Given the description of an element on the screen output the (x, y) to click on. 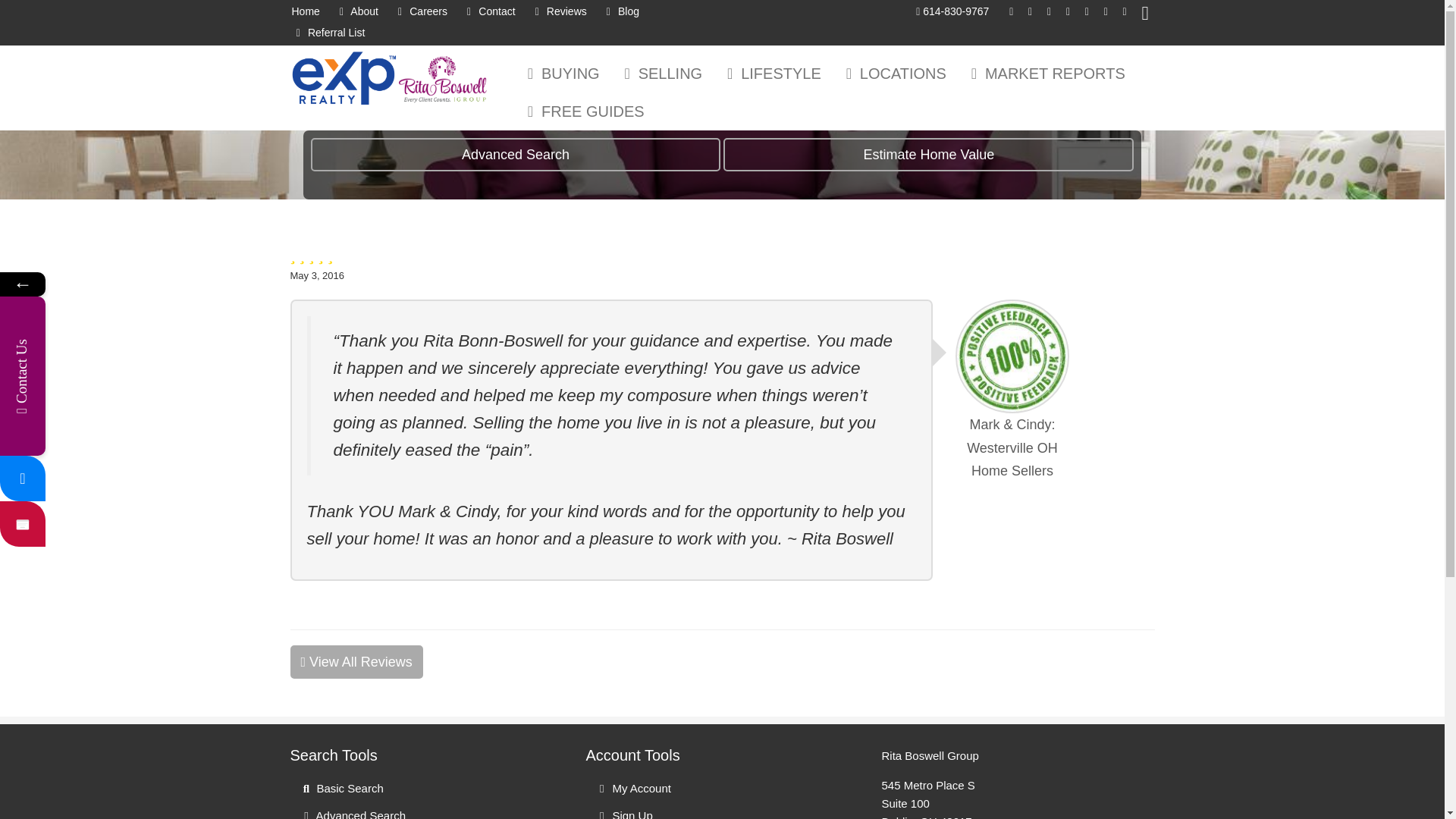
SELLING (659, 73)
ritaboswellgroup (22, 478)
Contact (488, 11)
Advanced Search (515, 154)
View All Reviews (355, 661)
Sign Up (722, 810)
Estimate Home Value (928, 154)
Market Reports (1044, 73)
Blog (619, 11)
Advanced Search (425, 810)
LIFESTYLE (770, 73)
Referral List (327, 33)
MARKET REPORTS (1044, 73)
My Account (722, 788)
Reviews (558, 11)
